Given the description of an element on the screen output the (x, y) to click on. 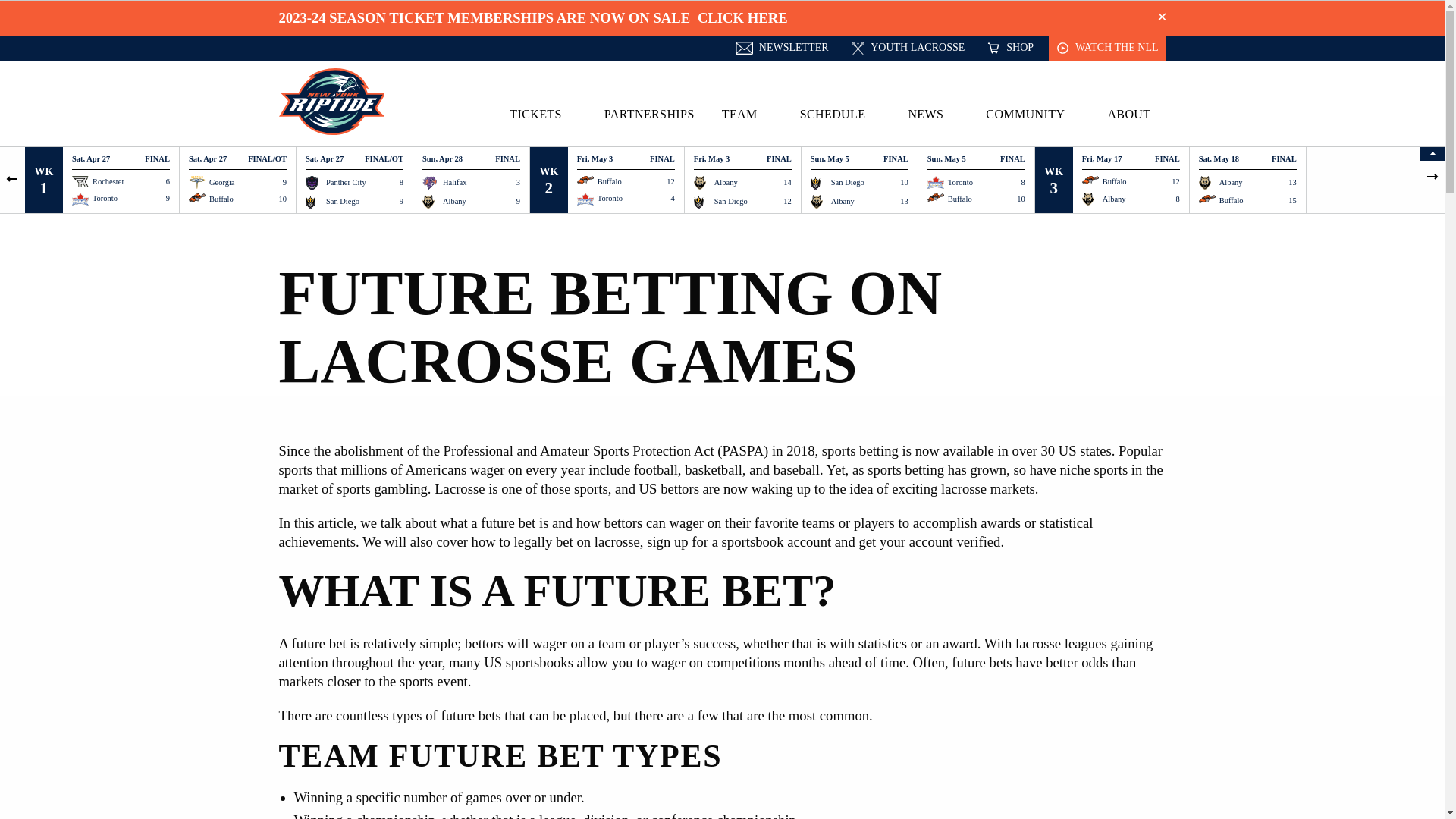
TICKETS (542, 114)
SHOP (1010, 48)
PARTNERSHIPS (649, 114)
NEWSLETTER (781, 48)
TEAM (747, 114)
YOUTH LACROSSE (908, 48)
SCHEDULE (839, 114)
WATCH THE NLL (1107, 48)
COMMUNITY (1032, 114)
CLICK HERE (742, 17)
NEWS (932, 114)
